Given the description of an element on the screen output the (x, y) to click on. 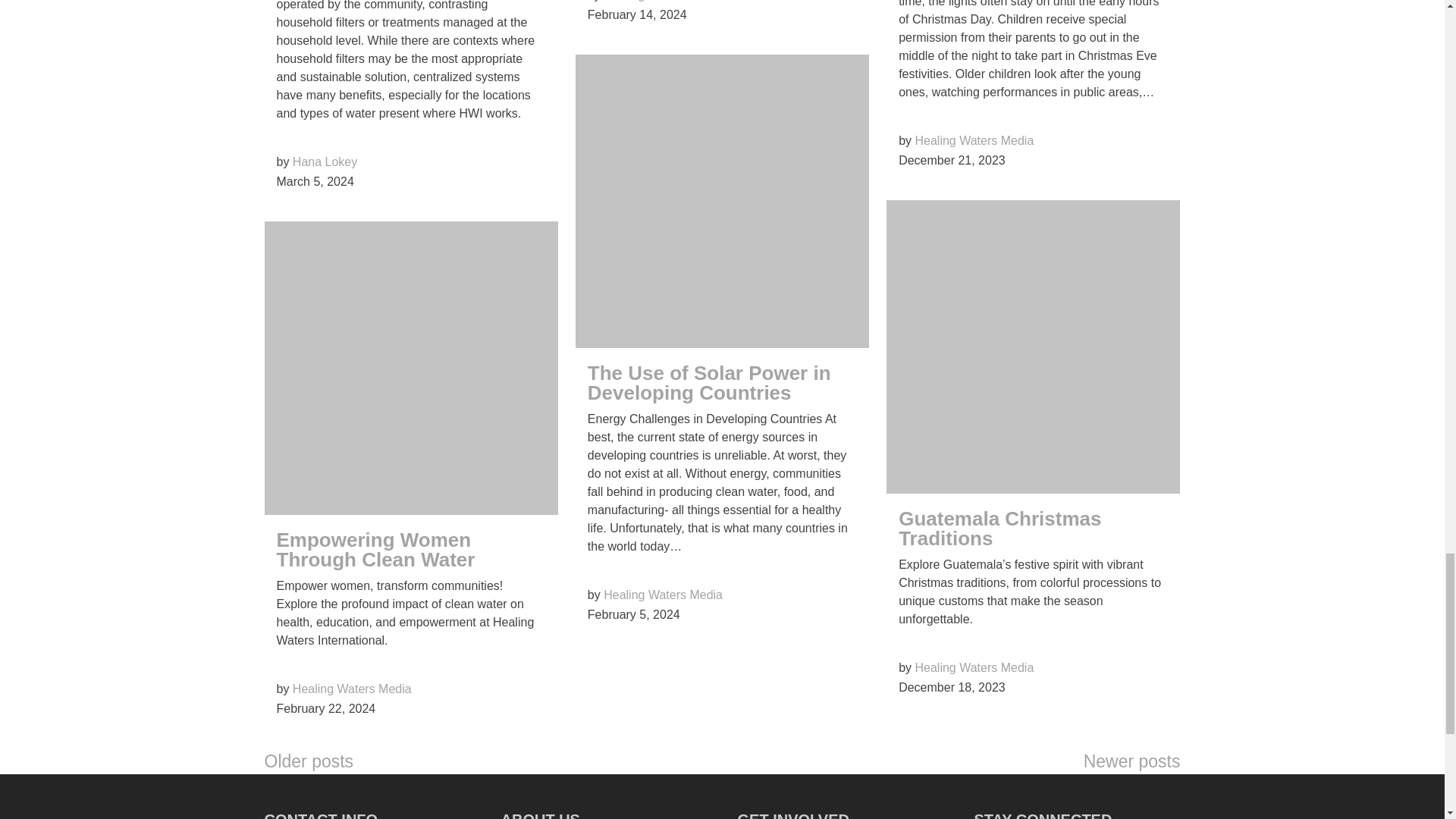
Empowering Women Through Clean Water (375, 549)
Healing Waters Media (352, 688)
Hana Lokey (324, 161)
